Given the description of an element on the screen output the (x, y) to click on. 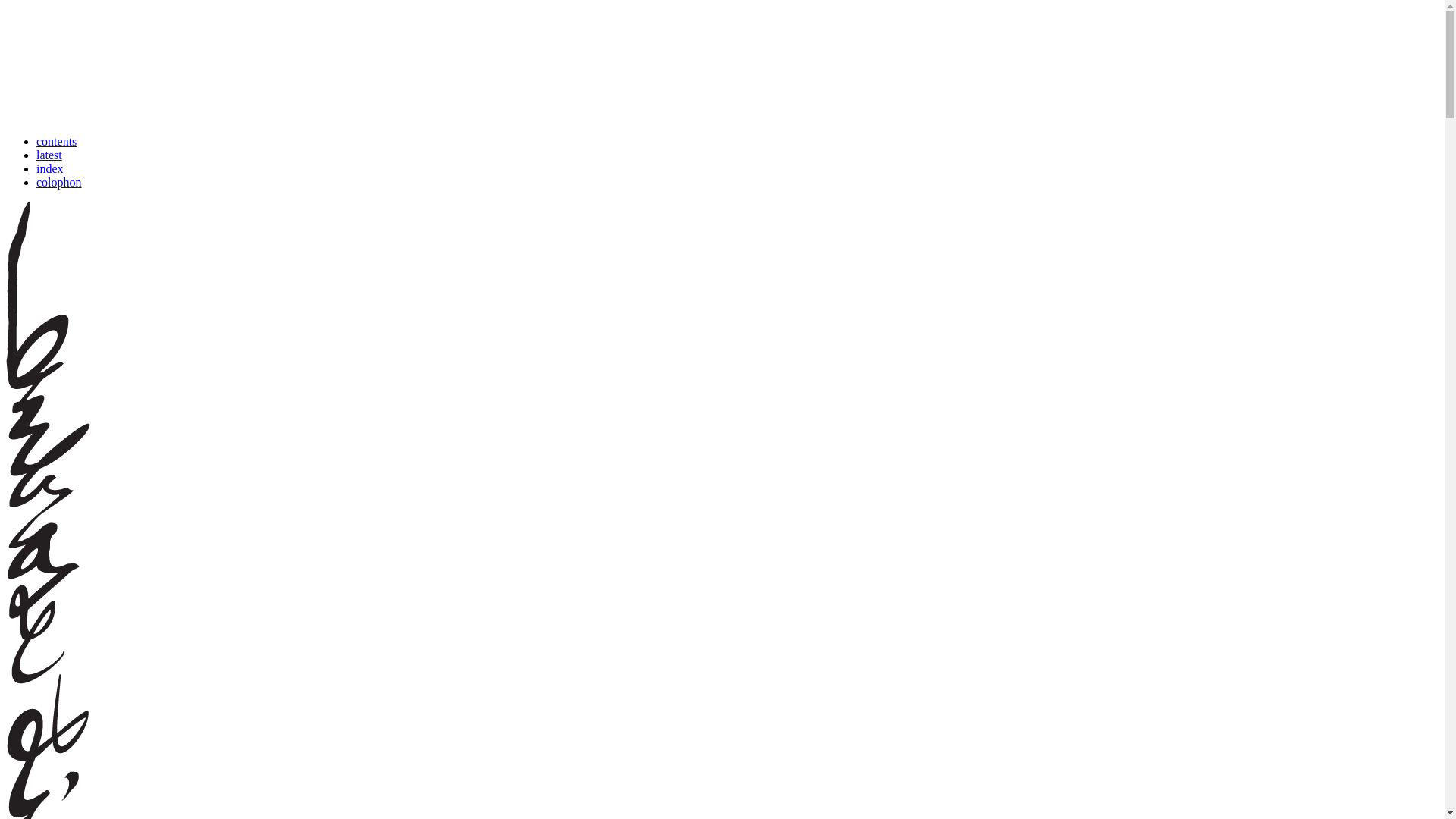
latest Element type: text (49, 154)
colophon Element type: text (58, 181)
contents Element type: text (56, 140)
index Element type: text (49, 168)
